Given the description of an element on the screen output the (x, y) to click on. 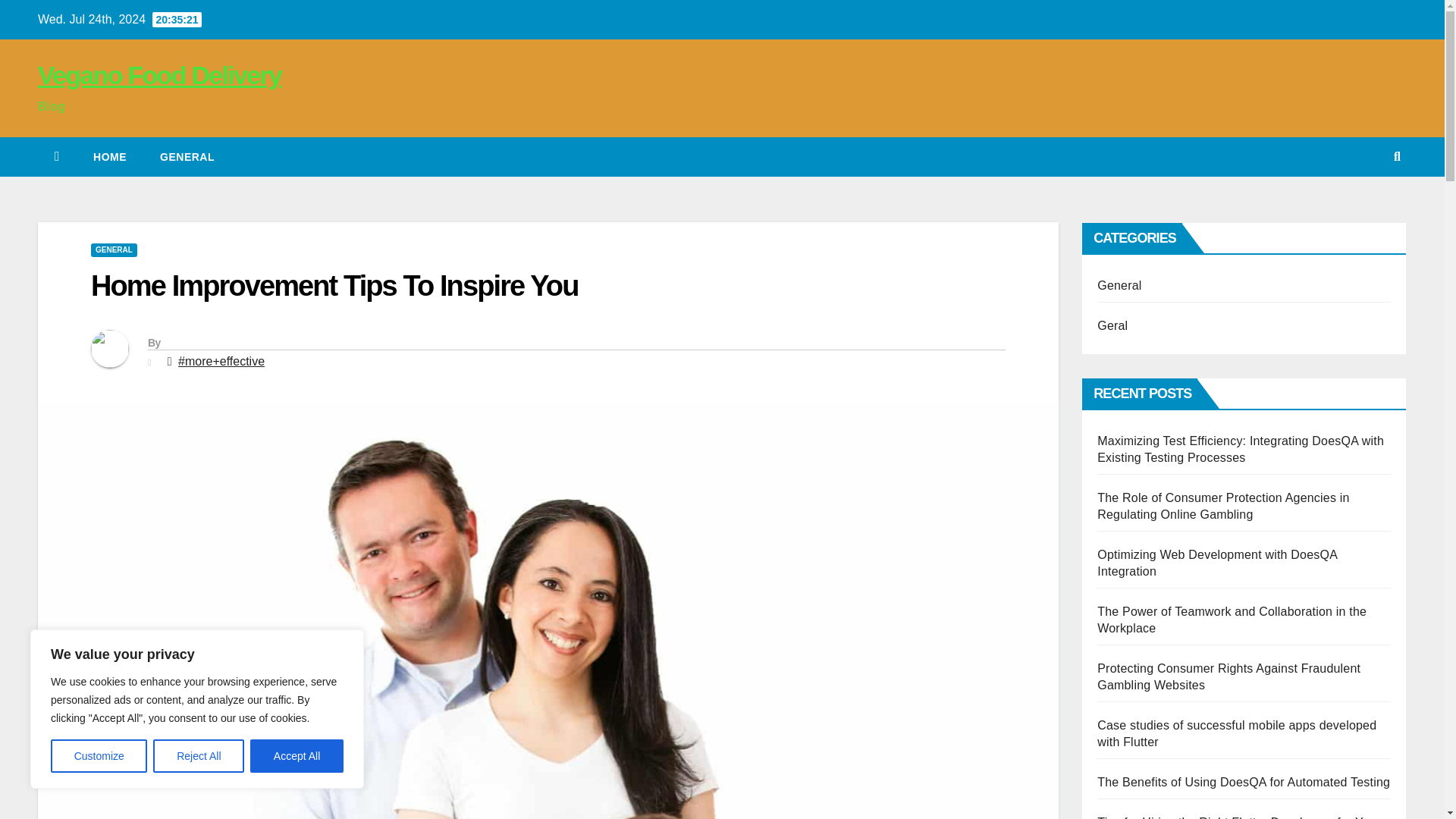
GENERAL (186, 156)
Permalink to: Home Improvement Tips To Inspire You (334, 286)
Vegano Food Delivery (159, 74)
Home Improvement Tips To Inspire You (334, 286)
GENERAL (113, 250)
Reject All (198, 756)
Home (109, 156)
General (186, 156)
Accept All (296, 756)
HOME (109, 156)
Customize (98, 756)
